Given the description of an element on the screen output the (x, y) to click on. 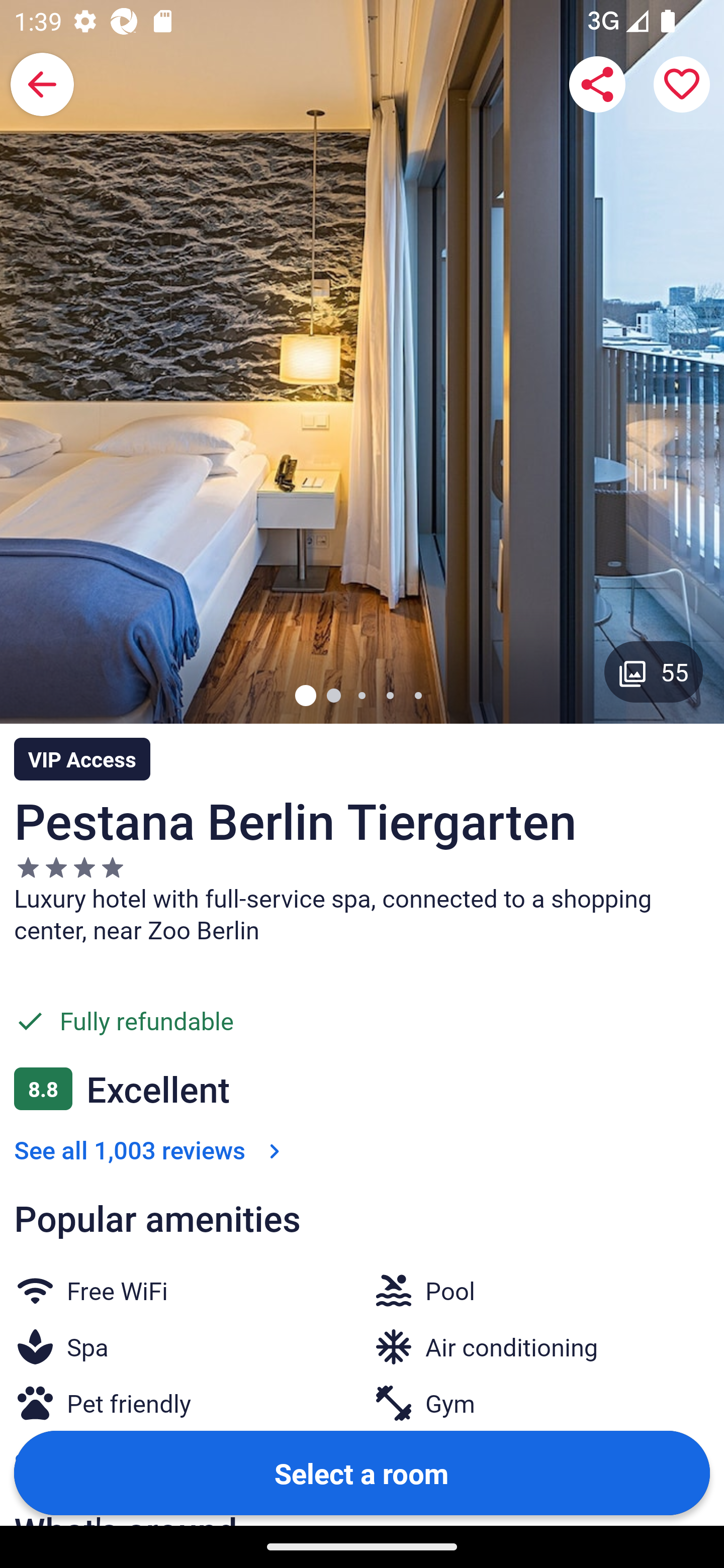
Back (42, 84)
Save property to a trip (681, 84)
Share Pestana Berlin Tiergarten (597, 84)
Gallery button with 55 images (653, 671)
See all 1,003 reviews See all 1,003 reviews Link (150, 1149)
Select a room Button Select a room (361, 1472)
